Given the description of an element on the screen output the (x, y) to click on. 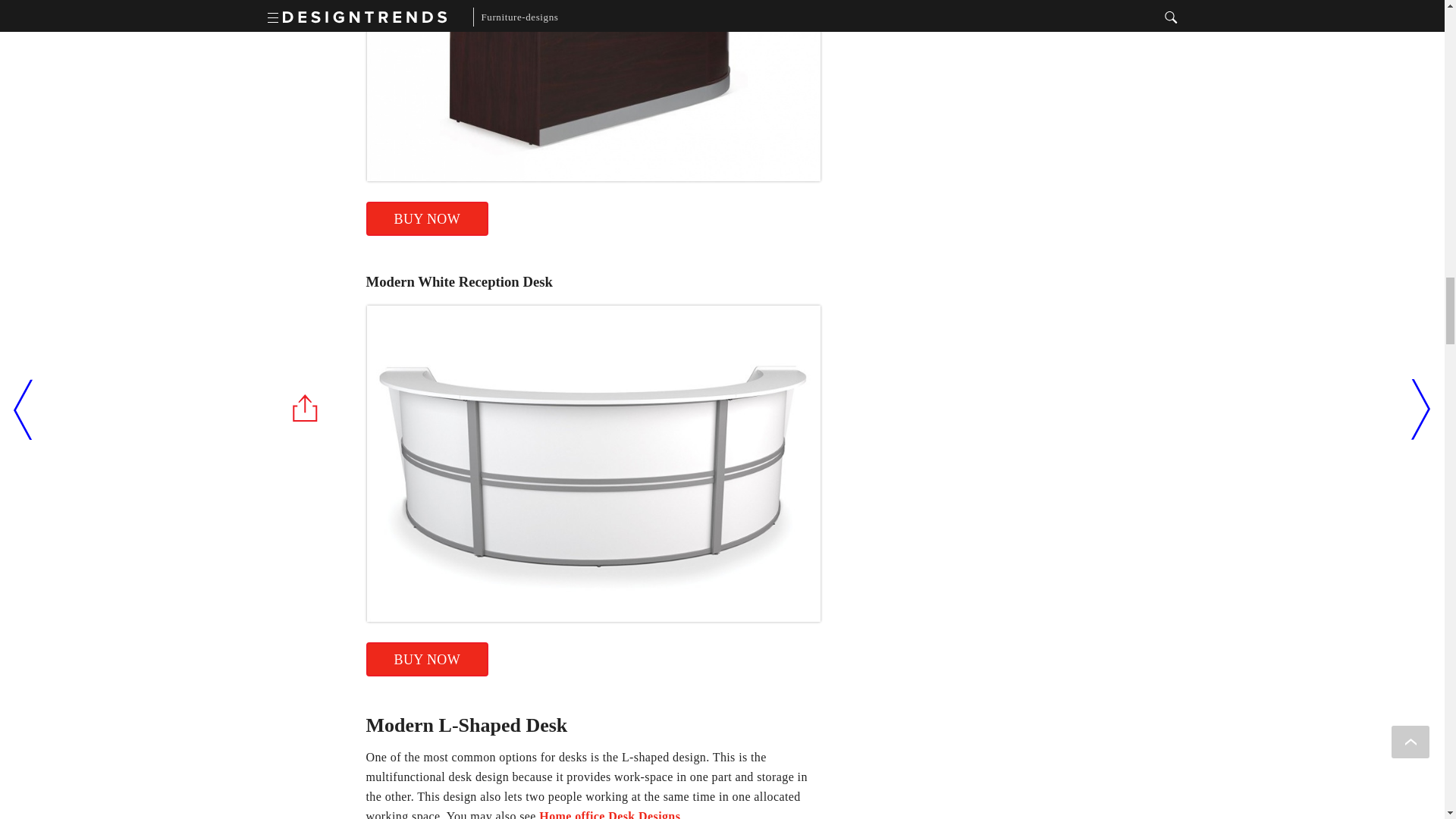
BUY NOW (426, 218)
Home office Desk Designs (608, 814)
BUY NOW (426, 659)
